Given the description of an element on the screen output the (x, y) to click on. 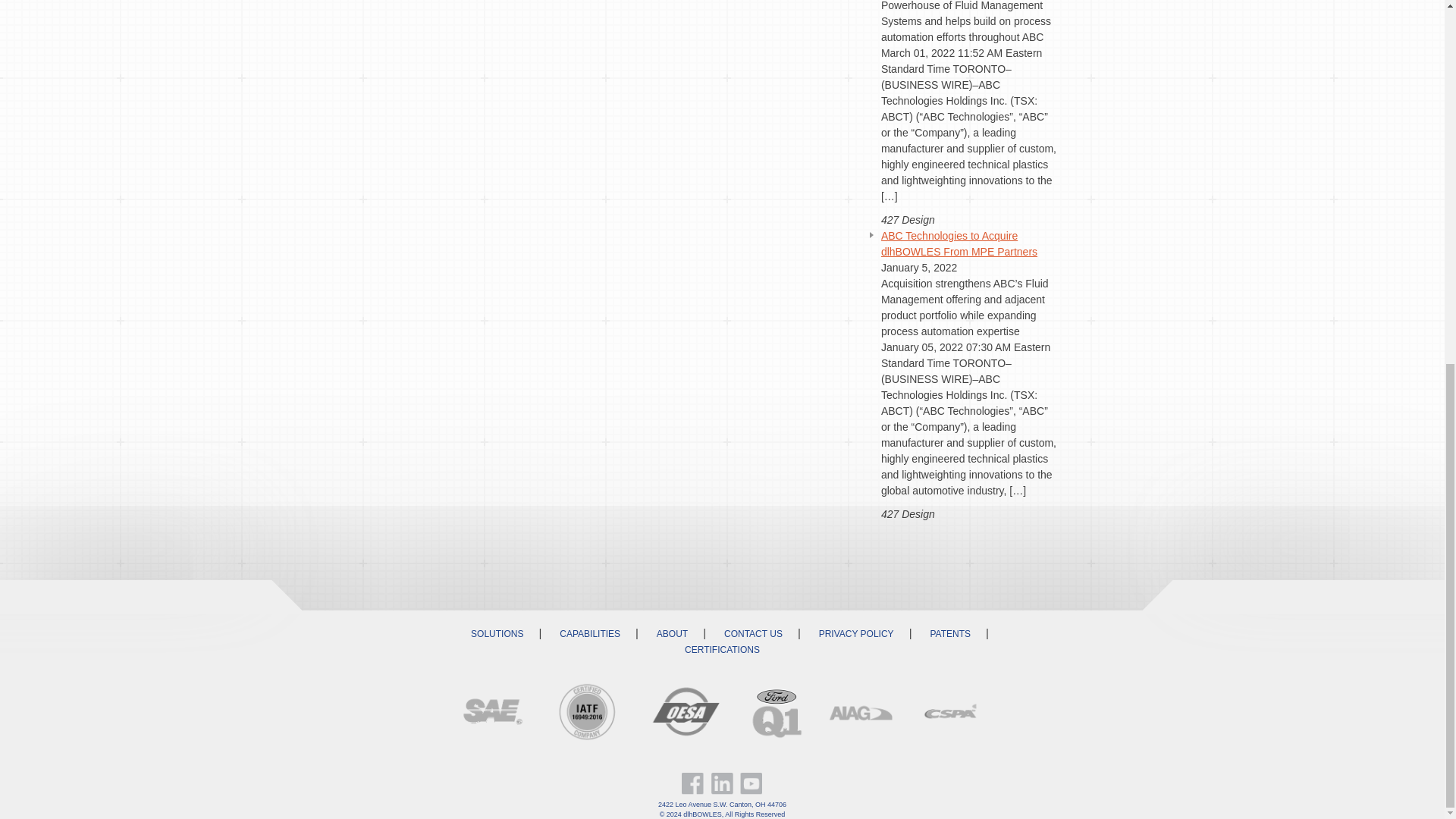
CAPABILITIES (589, 633)
PRIVACY POLICY (855, 633)
CONTACT US (753, 633)
SOLUTIONS (496, 633)
ABC Technologies to Acquire dlhBOWLES From MPE Partners (958, 243)
ABOUT (672, 633)
